Given the description of an element on the screen output the (x, y) to click on. 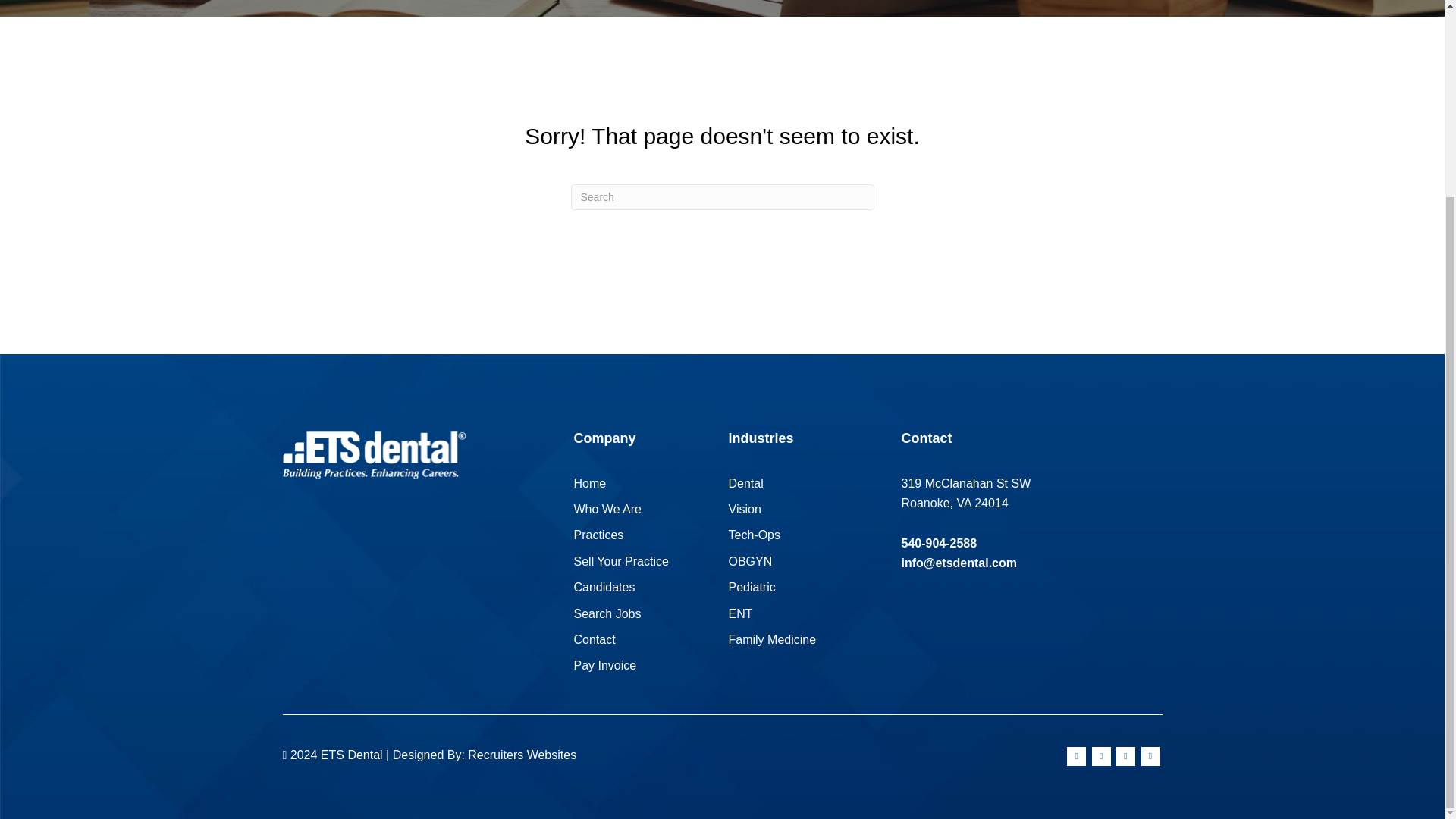
Search Jobs (606, 613)
Recruiters Websites (521, 754)
Pay Invoice (604, 665)
Vision (744, 508)
Home (589, 482)
Family Medicine (771, 639)
ENT (740, 613)
Dental (745, 482)
Type and press Enter to search. (721, 196)
Candidates (603, 586)
ETS Dental-Full-Color (373, 454)
Sell Your Practice (620, 561)
Practices (598, 534)
Contact (593, 639)
OBGYN (749, 561)
